Given the description of an element on the screen output the (x, y) to click on. 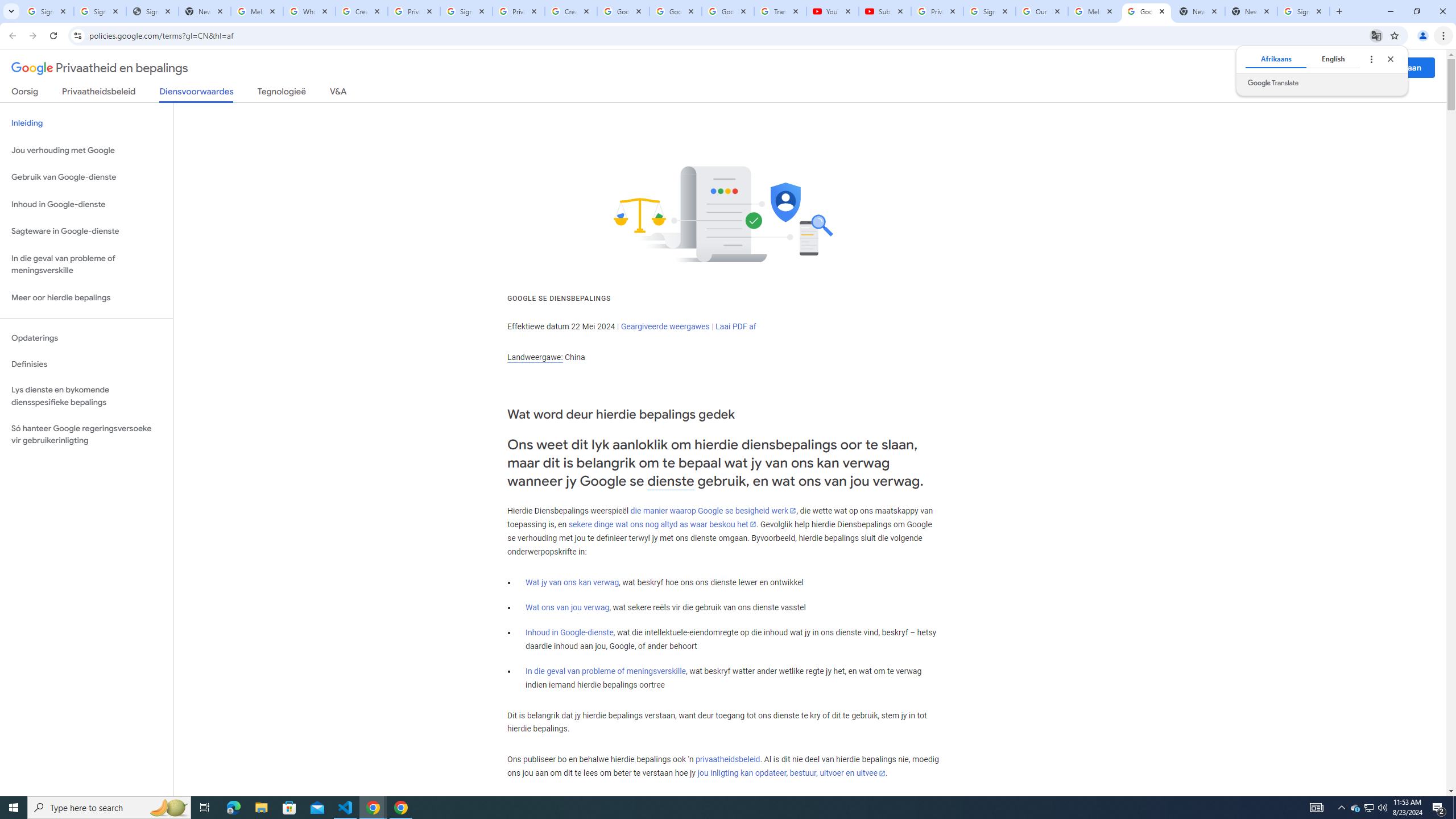
Privaatheidsbeleid (98, 93)
Translate options (1370, 58)
Create your Google Account (361, 11)
Sign in - Google Accounts (466, 11)
Opdaterings (86, 338)
Jou verhouding met Google (86, 150)
Translate this page (1376, 35)
Wat ons van jou verwag (567, 606)
Sign in - Google Accounts (989, 11)
Inleiding (86, 122)
Create your Google Account (571, 11)
